Given the description of an element on the screen output the (x, y) to click on. 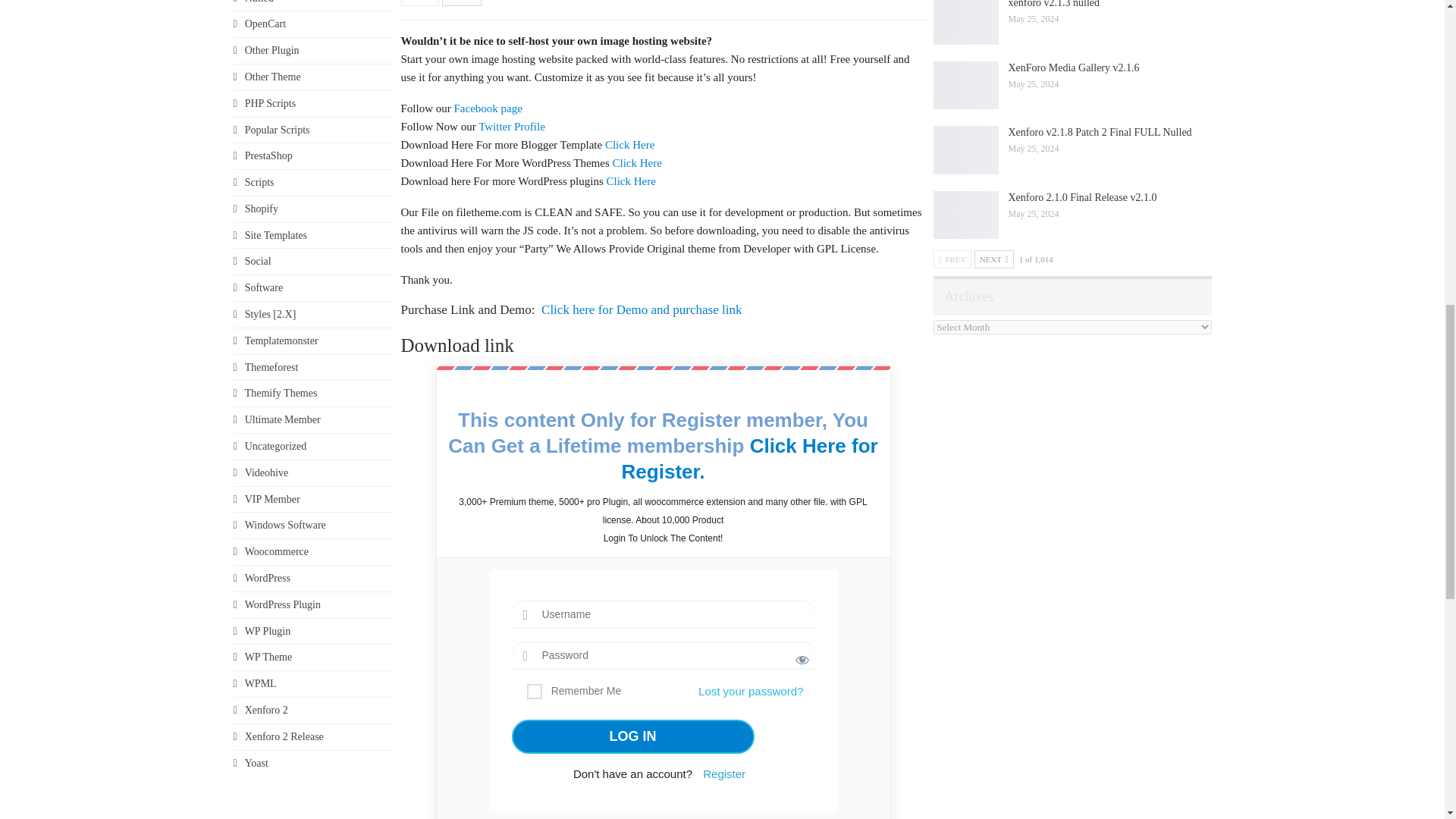
Log In (632, 736)
forever (533, 691)
Previous (419, 2)
Next (461, 2)
